Given the description of an element on the screen output the (x, y) to click on. 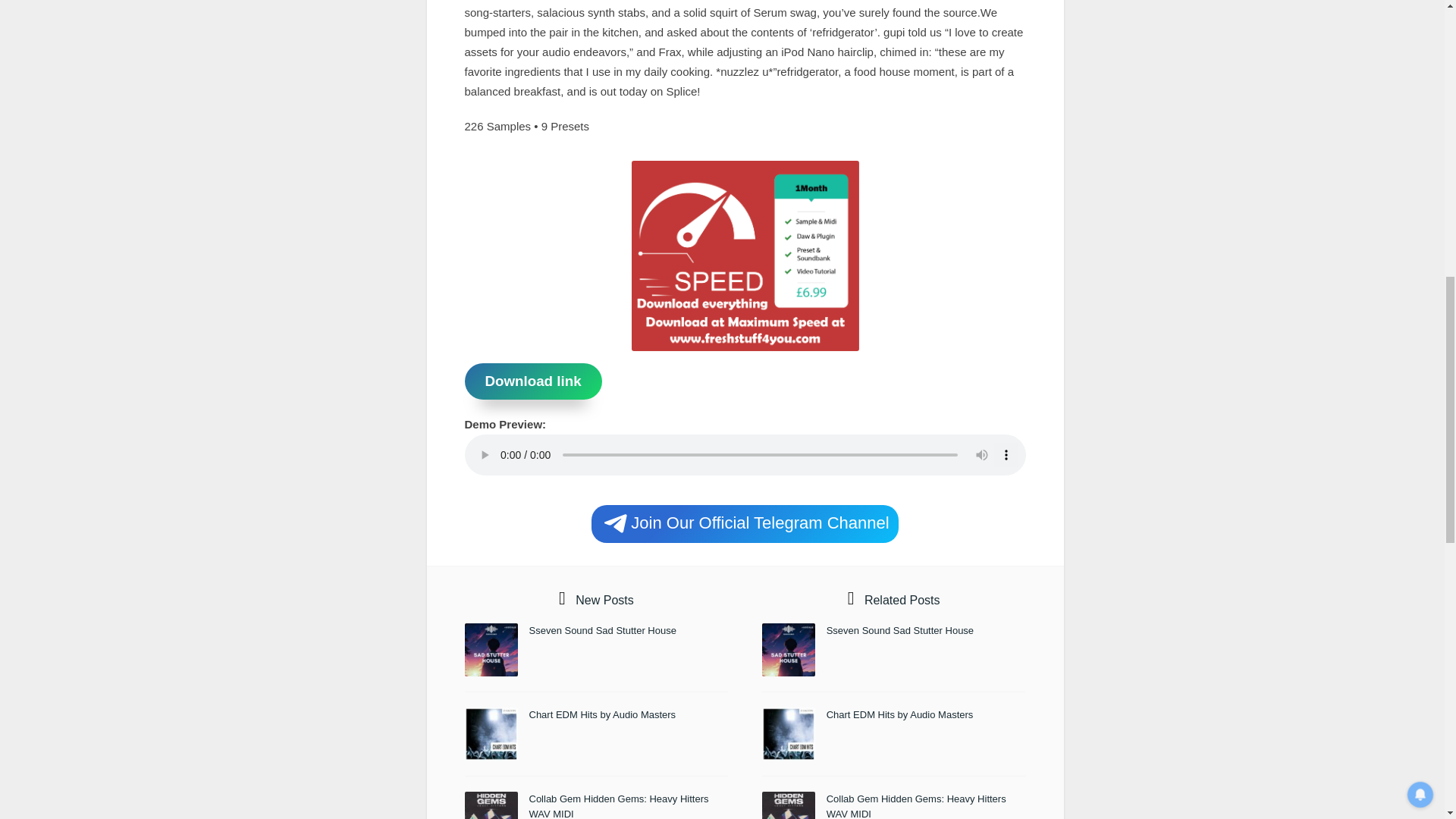
Chart EDM Hits by Audio Masters (900, 714)
Collab Gem Hidden Gems: Heavy Hitters WAV MIDI (916, 806)
Chart EDM Hits by Audio Masters (603, 714)
Sseven Sound Sad Stutter House (603, 630)
Download link (532, 381)
Join Our Official Telegram Channel (744, 523)
Sseven Sound Sad Stutter House (900, 630)
Collab Gem Hidden Gems: Heavy Hitters WAV MIDI (619, 806)
